Given the description of an element on the screen output the (x, y) to click on. 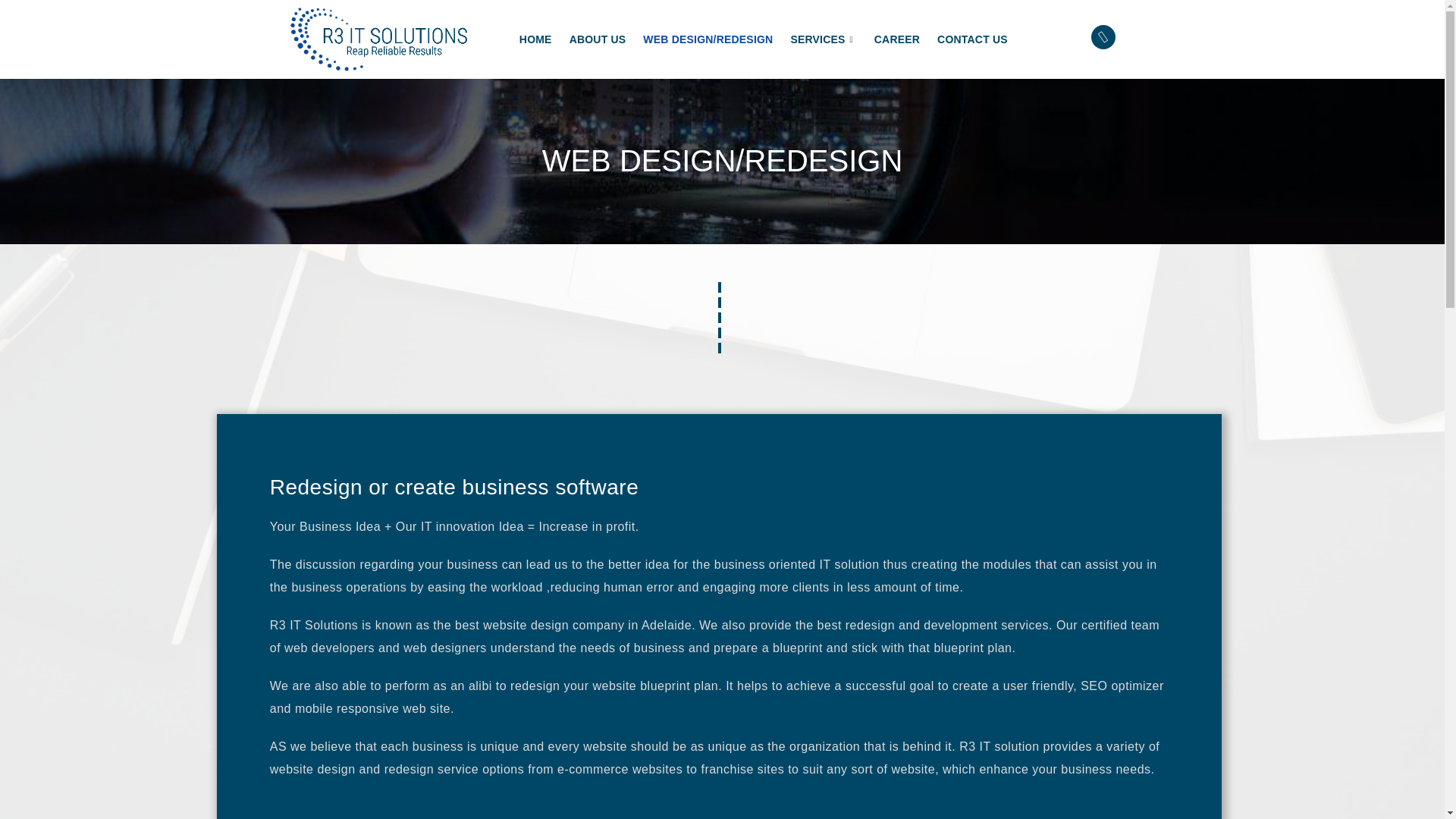
SERVICES (831, 39)
CAREER (906, 39)
CONTACT US (981, 39)
ABOUT US (606, 39)
